Given the description of an element on the screen output the (x, y) to click on. 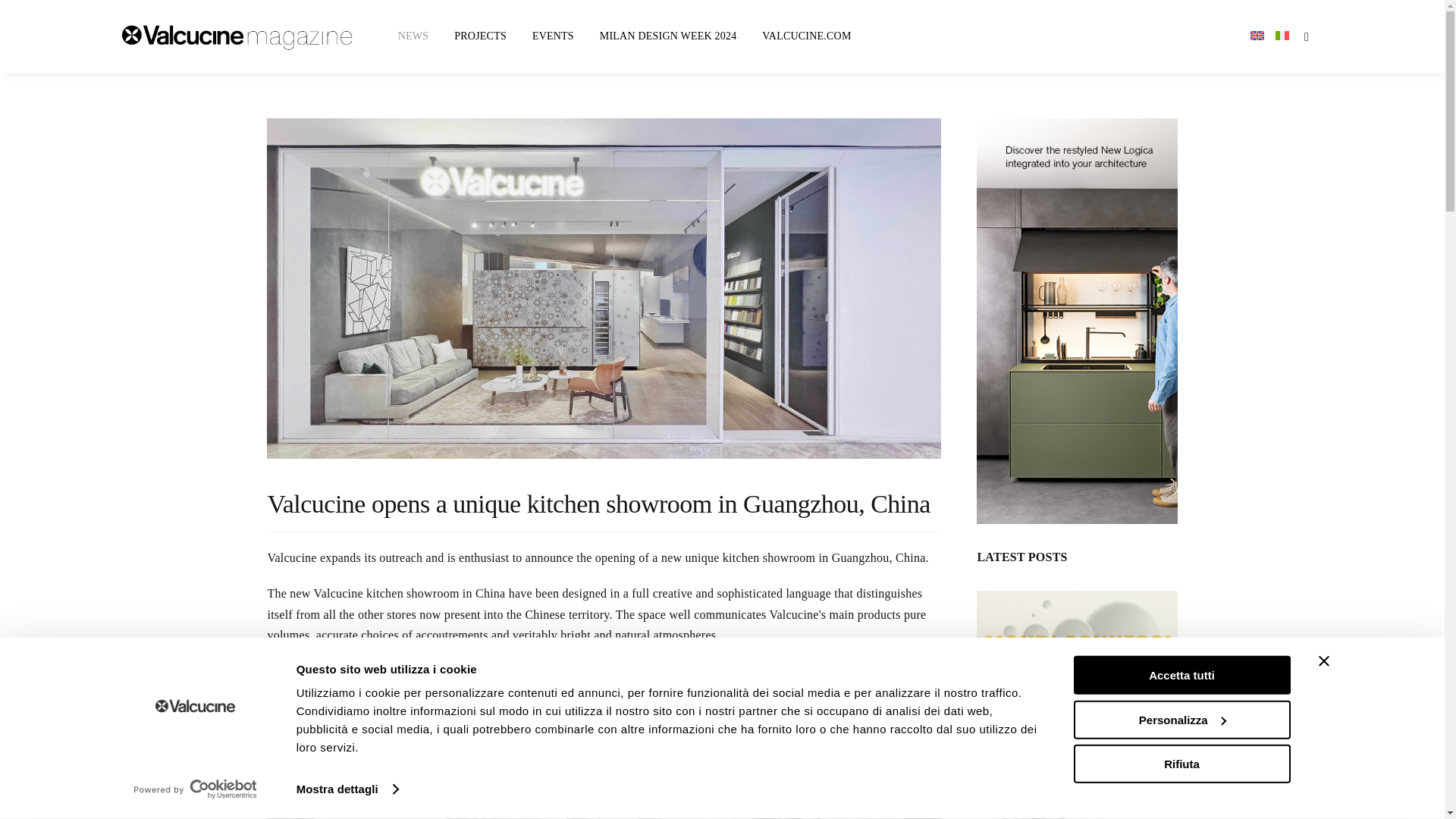
Rifiuta (1182, 763)
Posts tagged with kitchen showroom (619, 503)
Posts tagged with kitchen (741, 557)
Mostra dettagli (347, 789)
Posts tagged with kitchen showroom (413, 593)
